Given the description of an element on the screen output the (x, y) to click on. 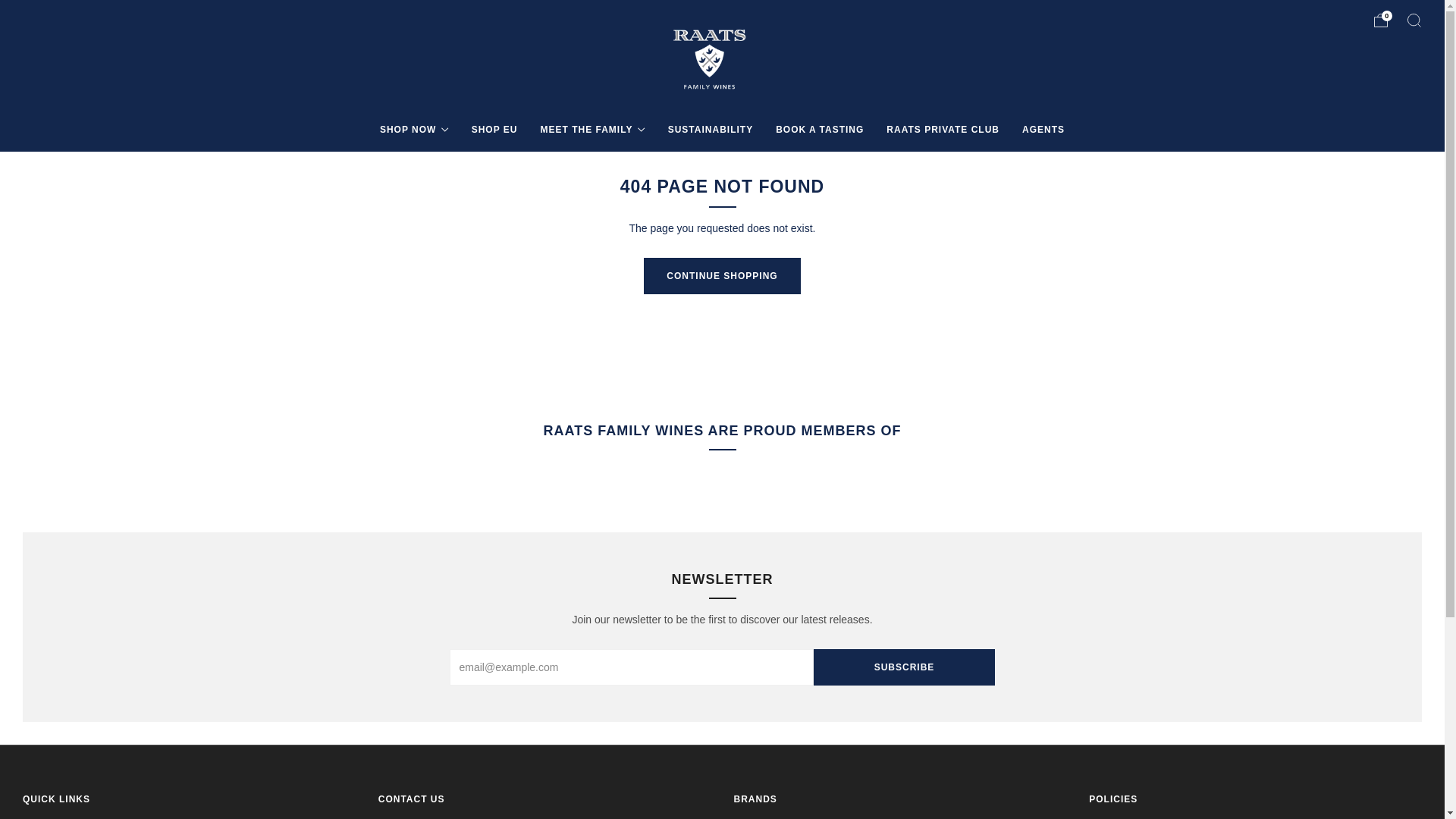
SHOP NOW (414, 129)
AGENTS (1043, 129)
SHOP EU (494, 129)
0 (1381, 20)
MEET THE FAMILY (592, 129)
BOOK A TASTING (819, 129)
RAATS PRIVATE CLUB (942, 129)
SUSTAINABILITY (710, 129)
